Given the description of an element on the screen output the (x, y) to click on. 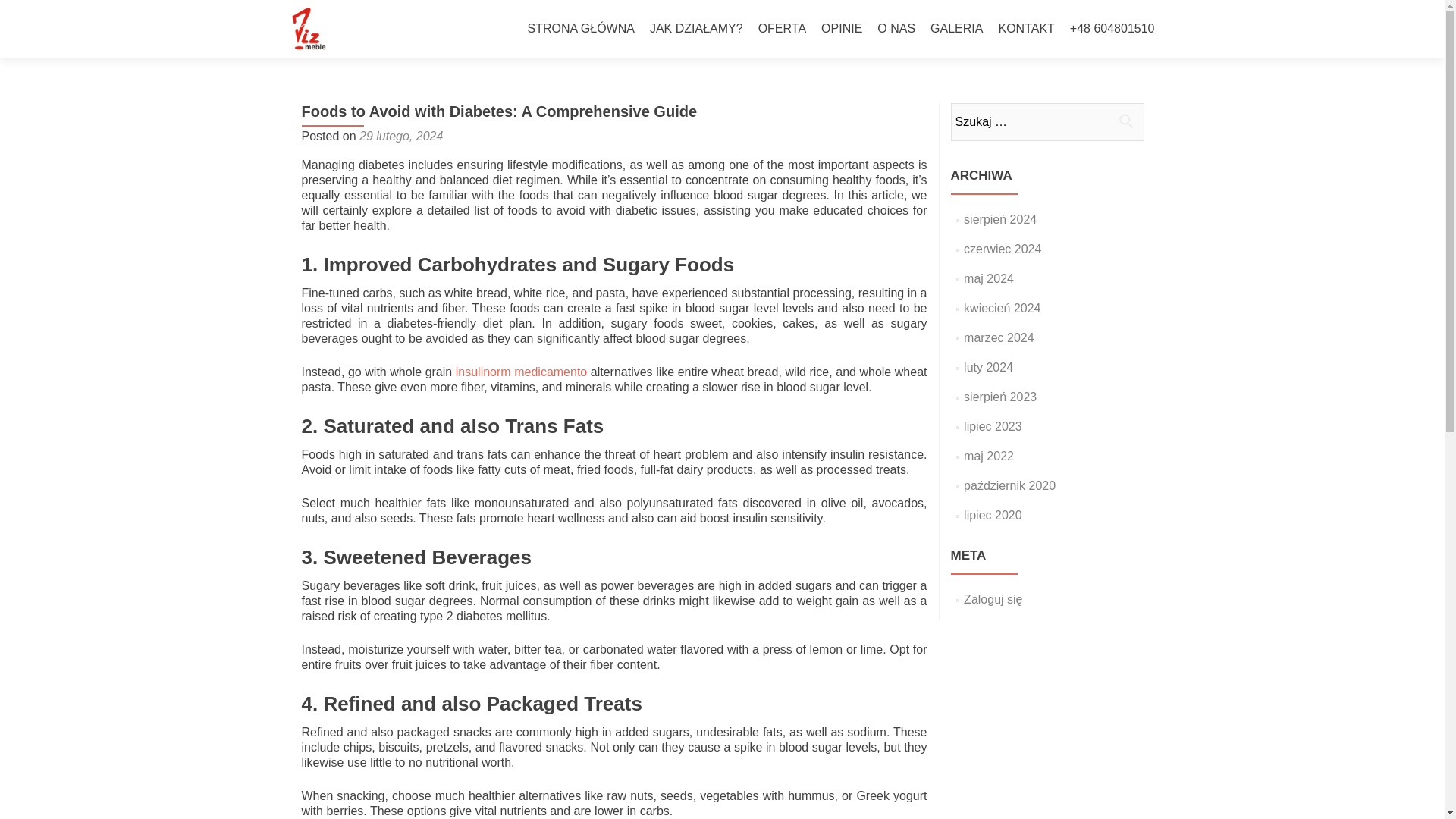
OPINIE (841, 28)
Szukaj (1125, 120)
GALERIA (956, 28)
Szukaj (1125, 120)
maj 2024 (988, 278)
czerwiec 2024 (1002, 248)
KONTAKT (1025, 28)
O NAS (896, 28)
OFERTA (782, 28)
maj 2022 (988, 455)
